Given the description of an element on the screen output the (x, y) to click on. 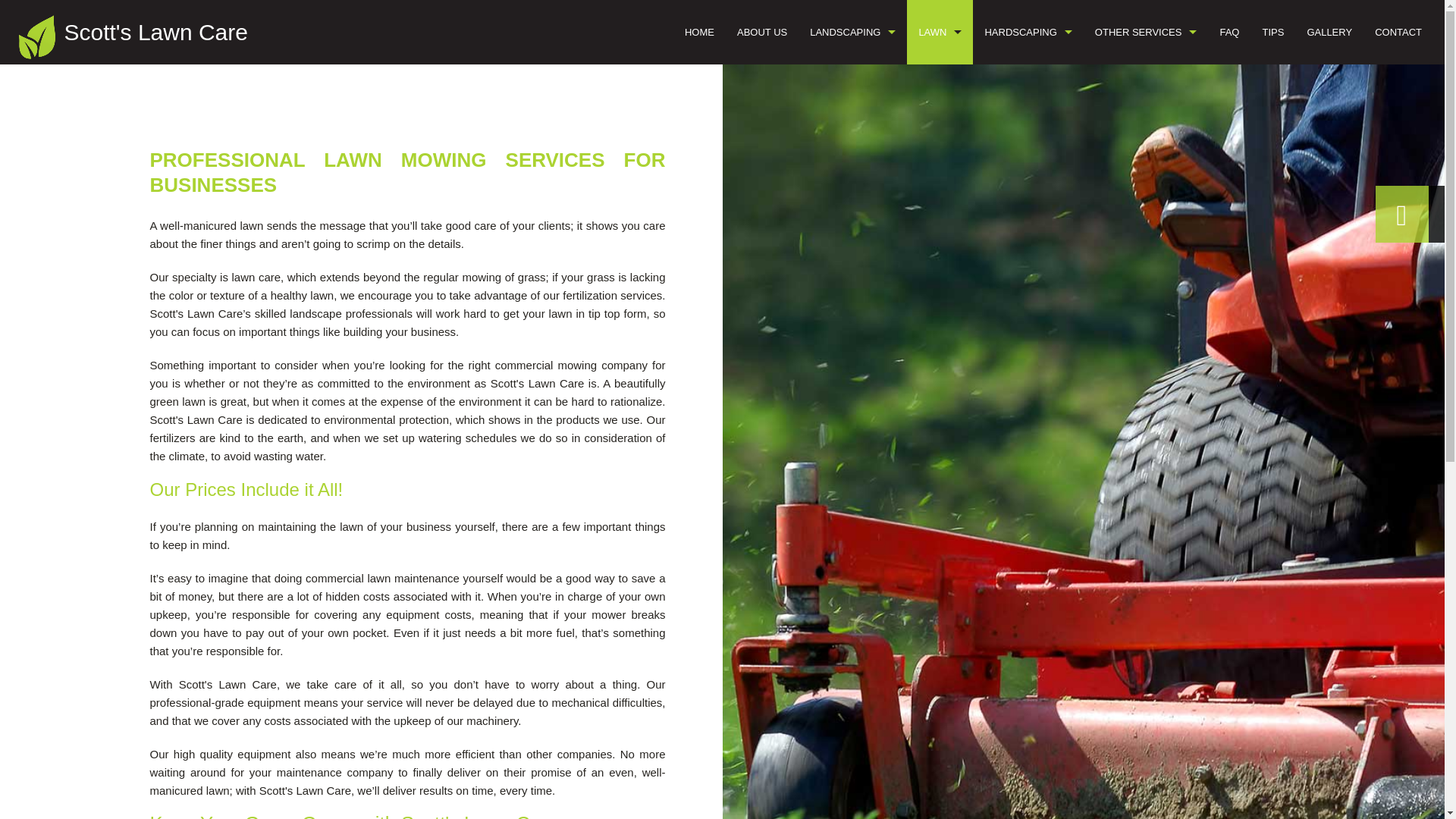
HARDSCAPING (1027, 32)
ABOUT US (761, 32)
LAWN (939, 32)
OTHER SERVICES (1145, 32)
Scott's Lawn Care (155, 32)
LANDSCAPING (852, 32)
